Given the description of an element on the screen output the (x, y) to click on. 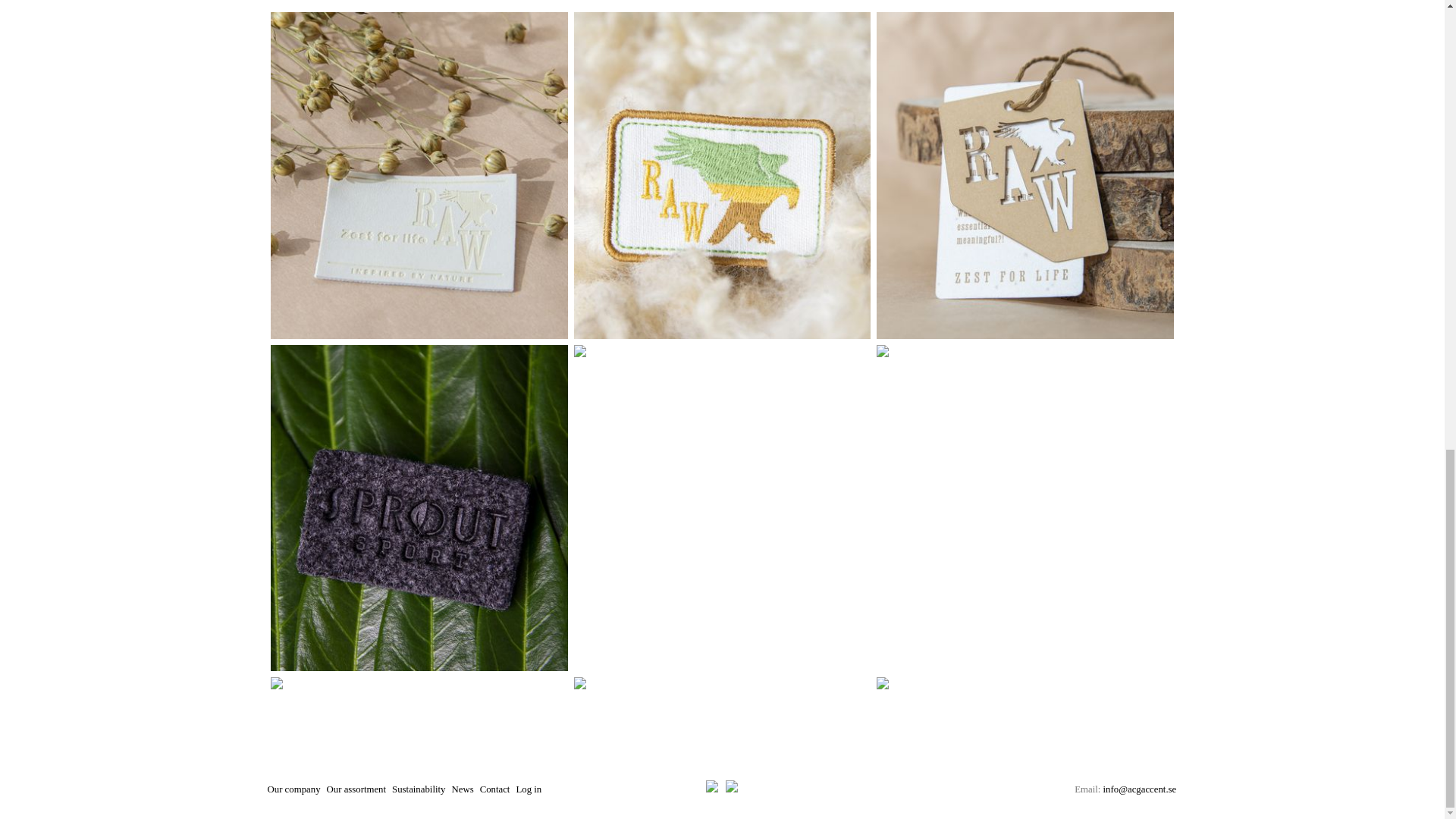
Contact (495, 789)
News (462, 789)
Our company (293, 789)
Our assortment (356, 789)
Log in (528, 789)
Sustainability (418, 789)
